Given the description of an element on the screen output the (x, y) to click on. 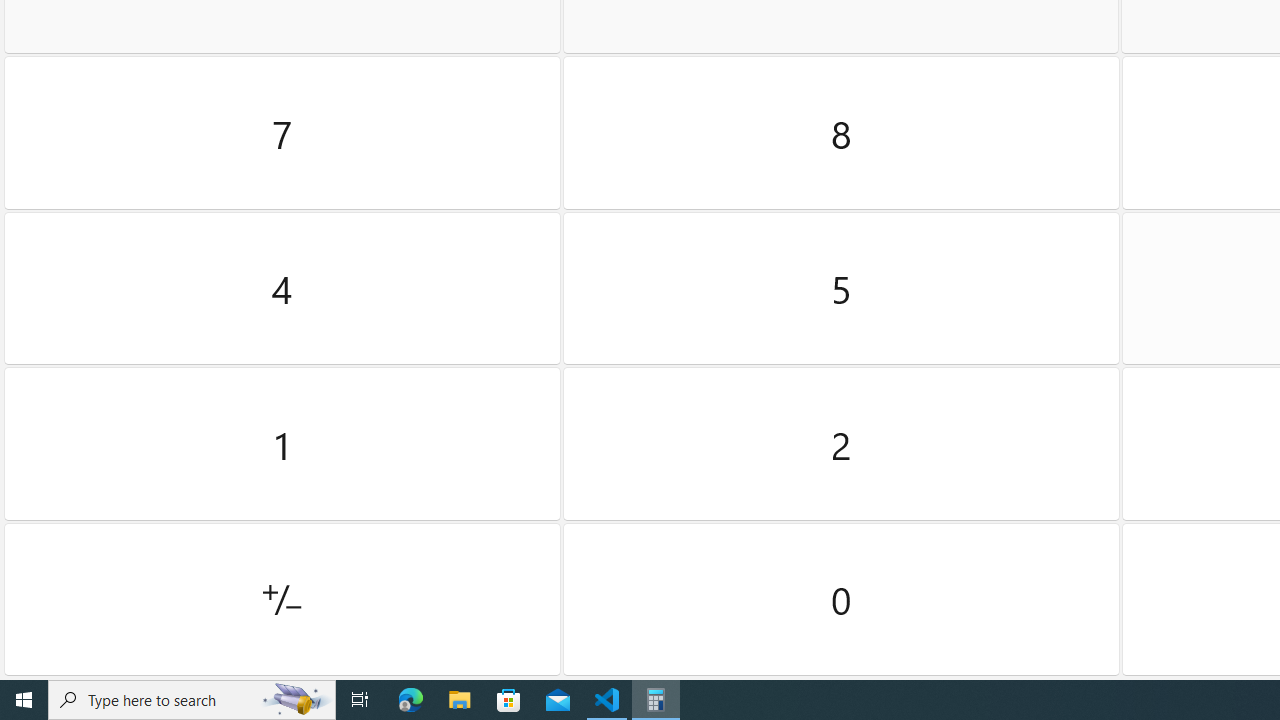
Five (841, 288)
Eight (841, 133)
Seven (281, 133)
Zero (841, 599)
Calculator - 1 running window (656, 699)
Four (281, 288)
Positive negative (281, 599)
